Given the description of an element on the screen output the (x, y) to click on. 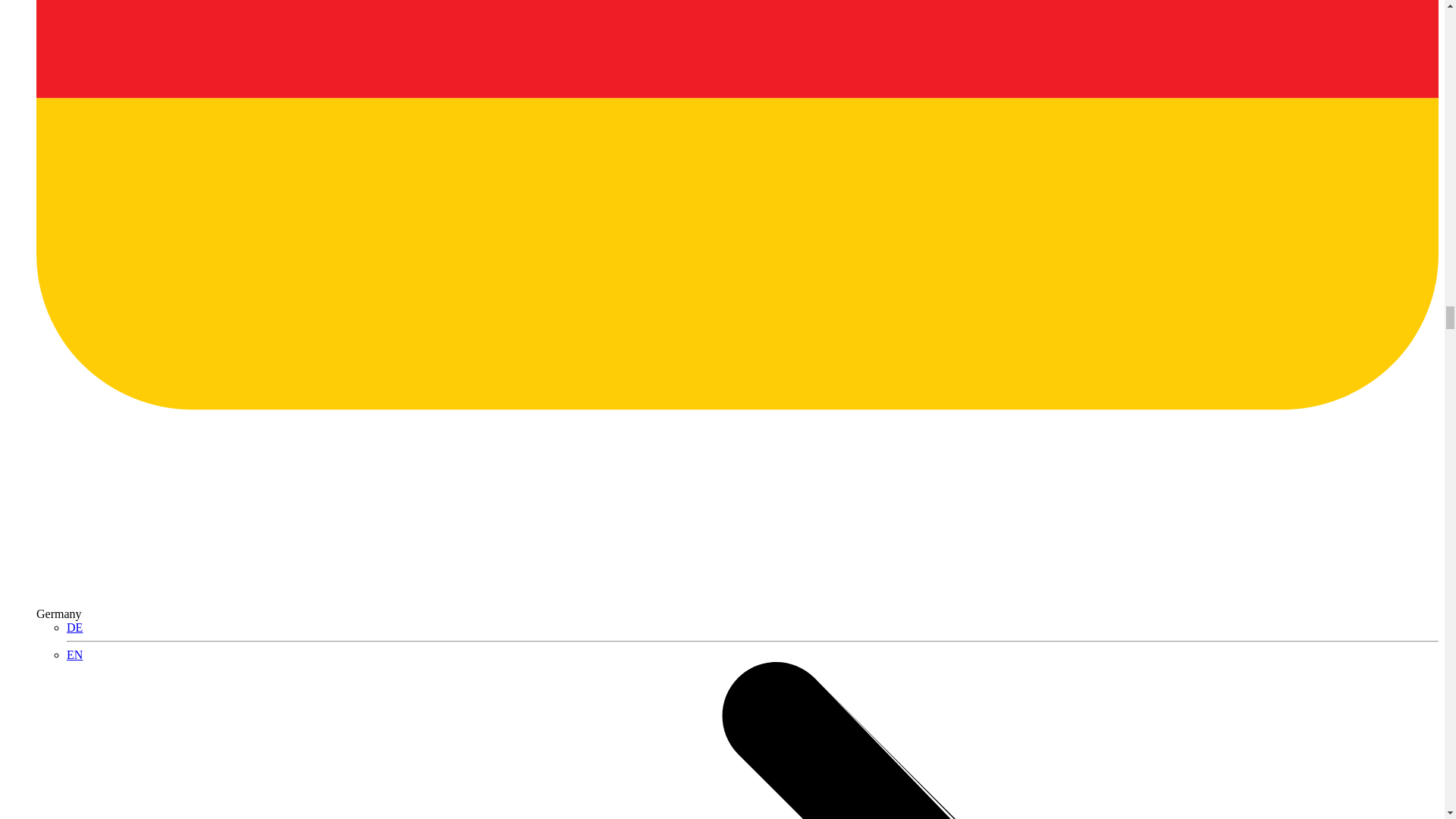
DE (74, 626)
EN (74, 654)
